Given the description of an element on the screen output the (x, y) to click on. 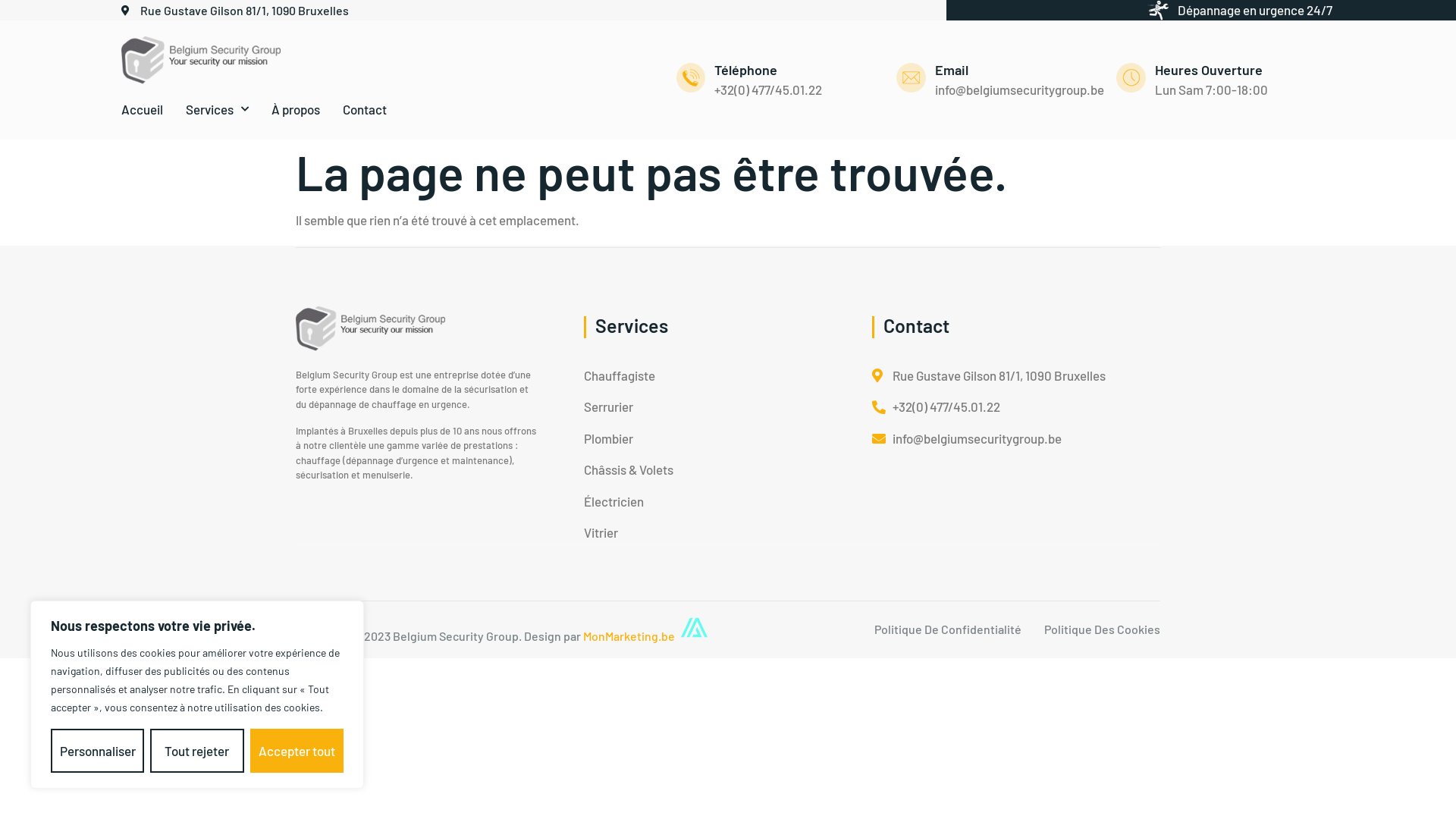
Accueil Element type: text (142, 108)
Tout rejeter Element type: text (196, 750)
Plombier Element type: text (628, 438)
Chauffagiste Element type: text (628, 375)
Accepter tout Element type: text (296, 750)
+32(0) 477/45.01.22 Element type: text (989, 407)
Vitrier Element type: text (628, 532)
Politique Des Cookies Element type: text (1102, 629)
Serrurier Element type: text (628, 407)
Contact Element type: text (364, 108)
Personnaliser Element type: text (97, 750)
MonMarketing.be Element type: text (628, 635)
Services Element type: text (216, 108)
Email Element type: text (951, 69)
Rue Gustave Gilson 81/1, 1090 Bruxelles Element type: text (989, 375)
info@belgiumsecuritygroup.be Element type: text (989, 438)
Rue Gustave Gilson 81/1, 1090 Bruxelles Element type: text (234, 10)
